Given the description of an element on the screen output the (x, y) to click on. 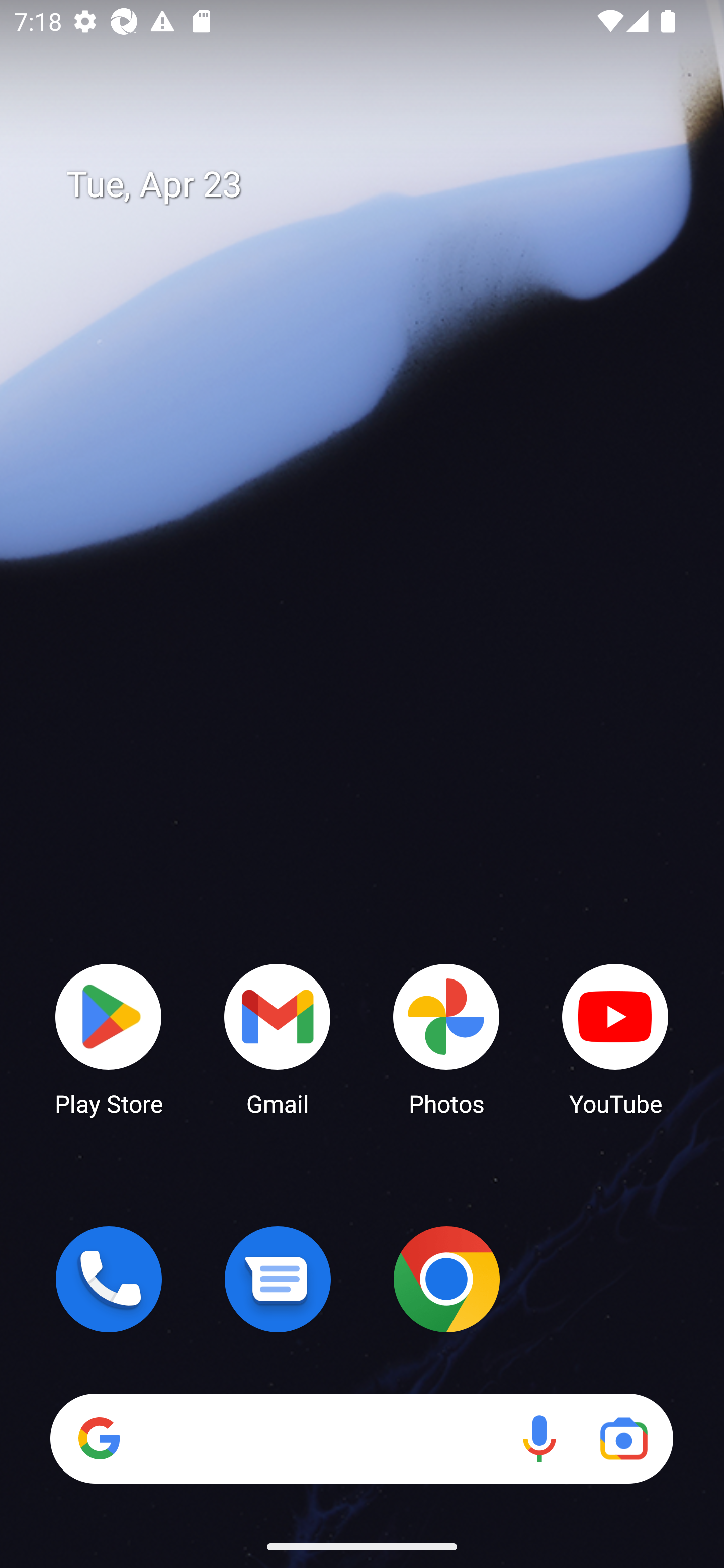
Tue, Apr 23 (375, 184)
Play Store (108, 1038)
Gmail (277, 1038)
Photos (445, 1038)
YouTube (615, 1038)
Phone (108, 1279)
Messages (277, 1279)
Chrome (446, 1279)
Search Voice search Google Lens (361, 1438)
Voice search (539, 1438)
Google Lens (623, 1438)
